Given the description of an element on the screen output the (x, y) to click on. 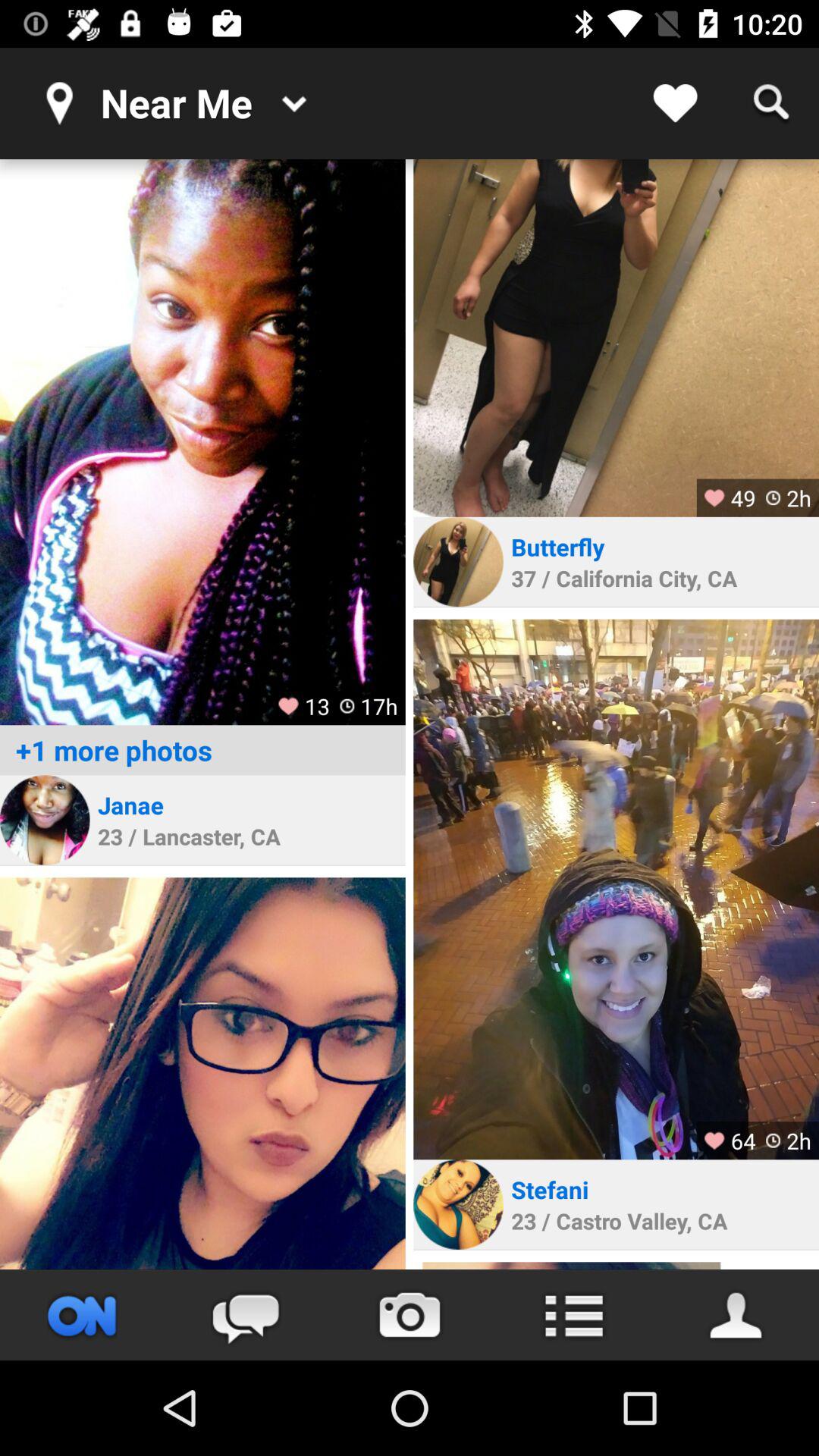
press stefani (549, 1189)
